Given the description of an element on the screen output the (x, y) to click on. 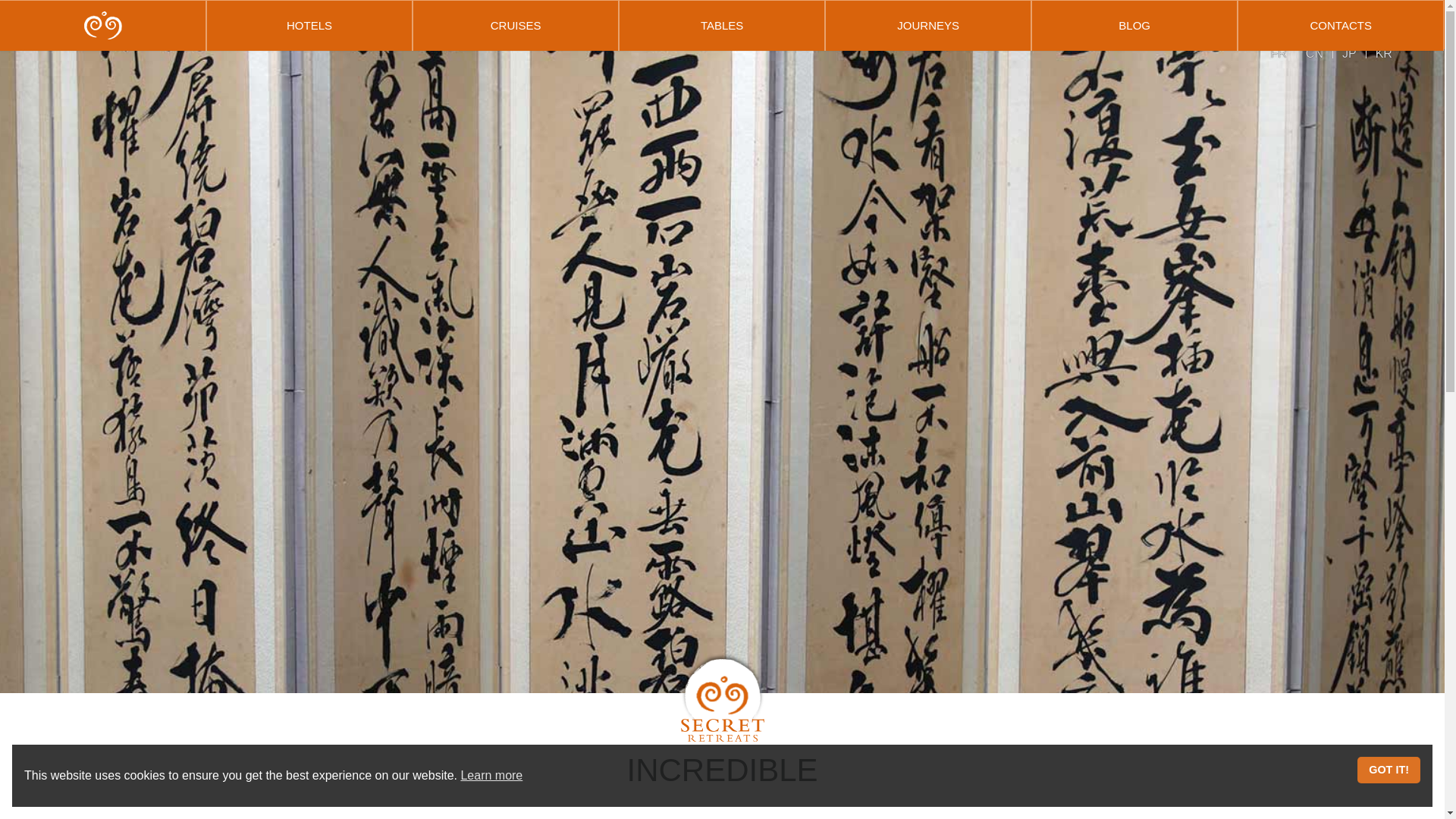
CN (1314, 52)
FR (1279, 52)
Learn more (491, 775)
GOT IT! (1388, 769)
JP (1349, 52)
HOTELS (309, 25)
KR (1383, 52)
